Given the description of an element on the screen output the (x, y) to click on. 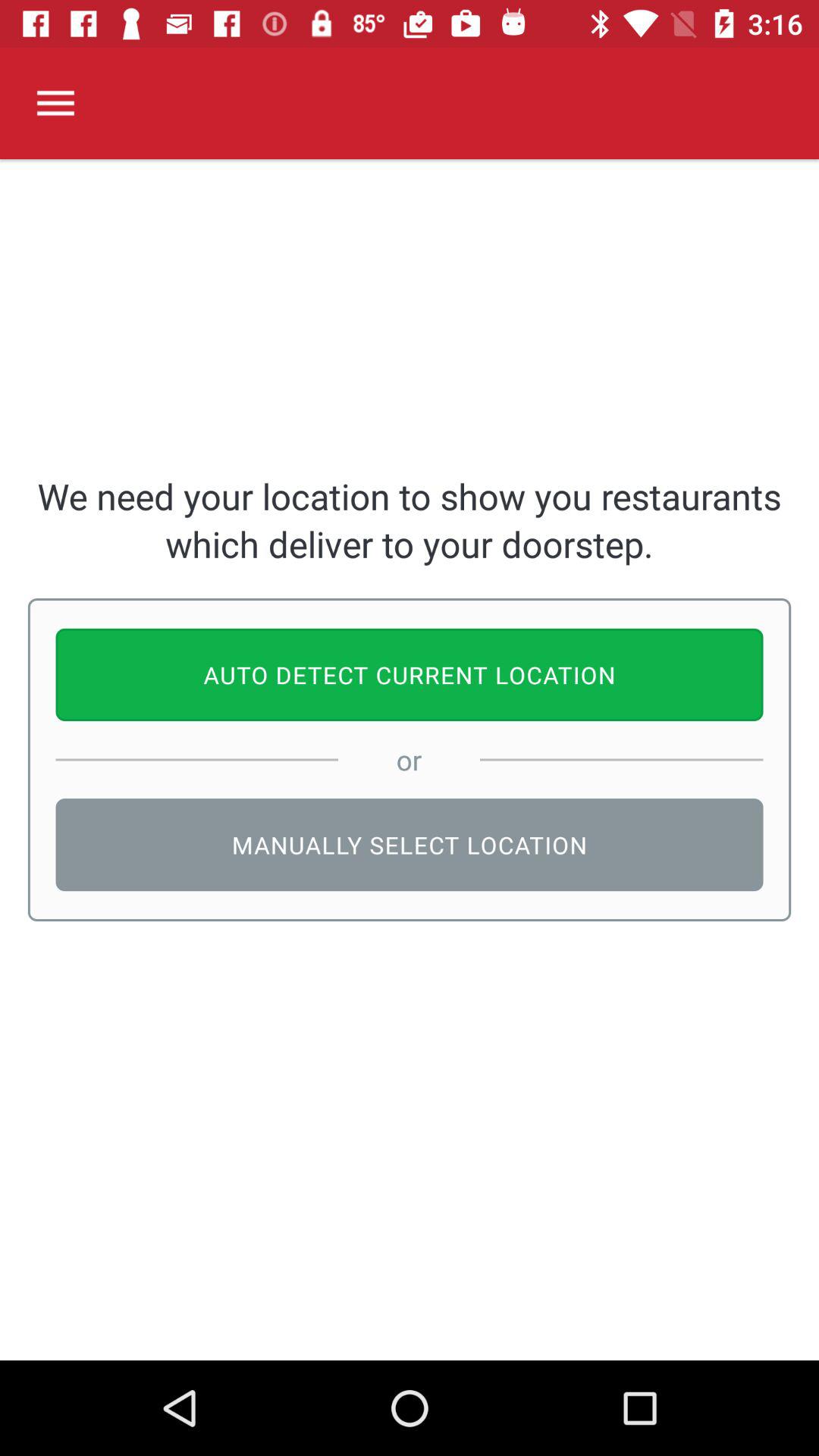
tap auto detect current icon (409, 674)
